Given the description of an element on the screen output the (x, y) to click on. 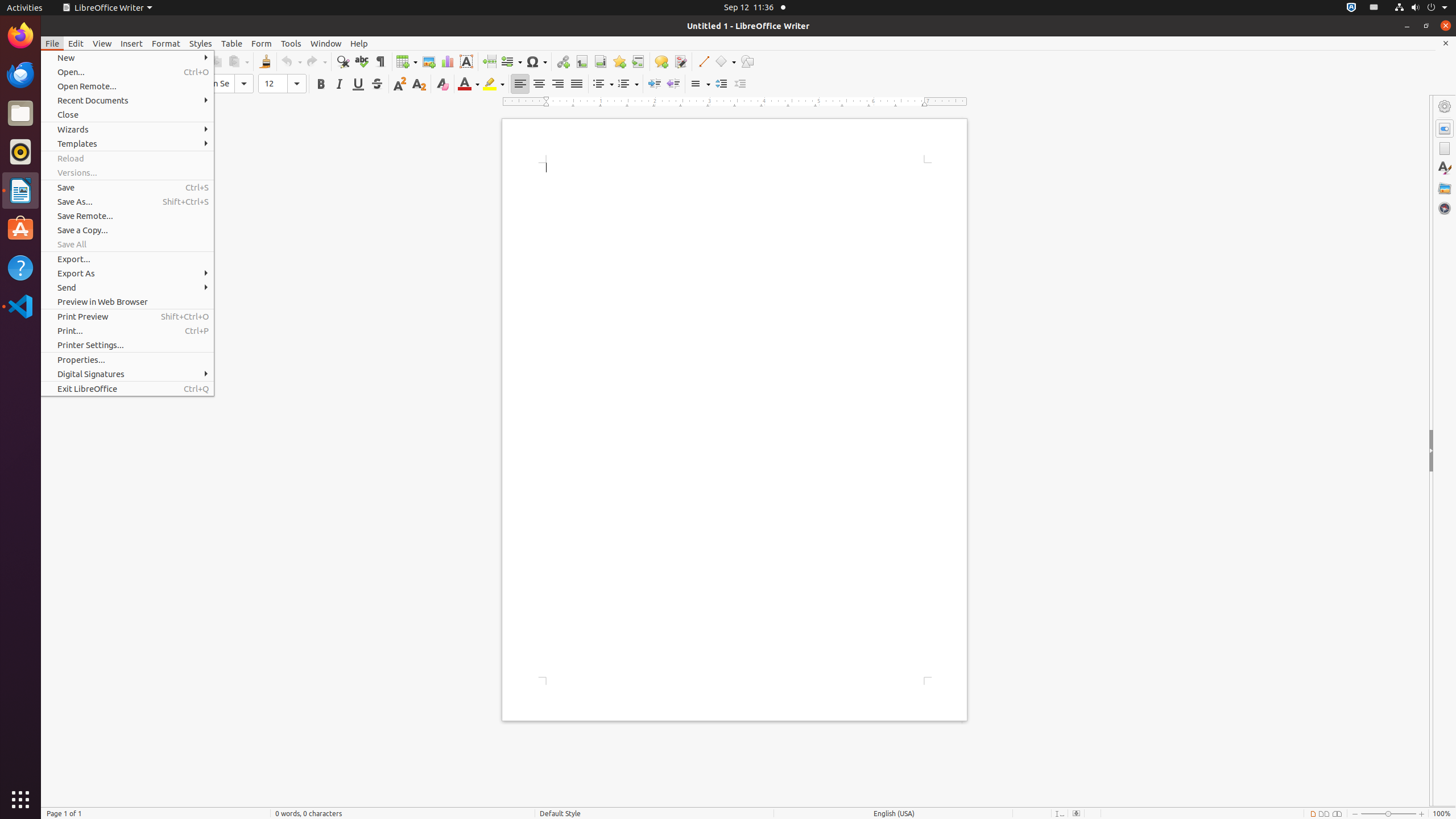
Paste Element type: push-button (237, 61)
Save Element type: menu-item (126, 187)
Wizards Element type: menu (126, 129)
Underline Element type: push-button (357, 83)
Italic Element type: toggle-button (338, 83)
